Given the description of an element on the screen output the (x, y) to click on. 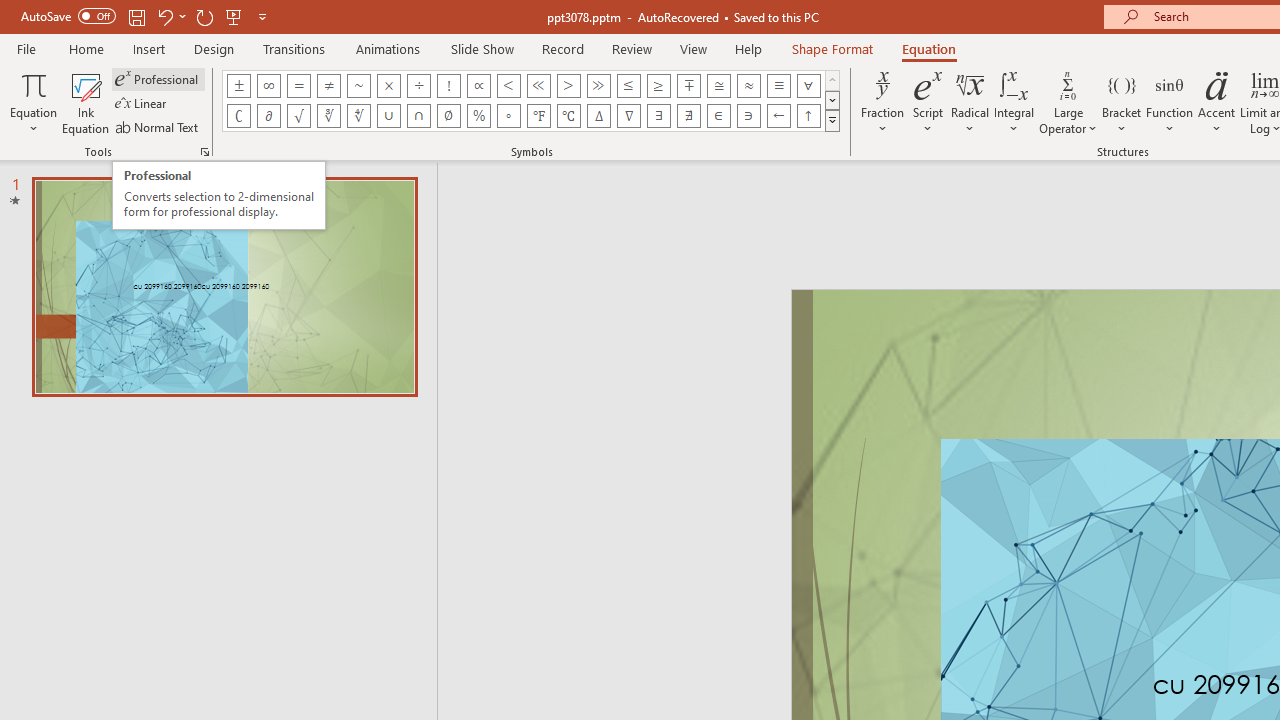
Fraction (882, 102)
Equation Symbol Greater Than or Equal To (658, 85)
Equation Symbol Complement (238, 115)
Equation Symbol Much Greater Than (598, 85)
Equation Symbol Less Than (508, 85)
AutomationID: EquationSymbolsInsertGallery (532, 100)
Equation Symbol Element Of (718, 115)
